Given the description of an element on the screen output the (x, y) to click on. 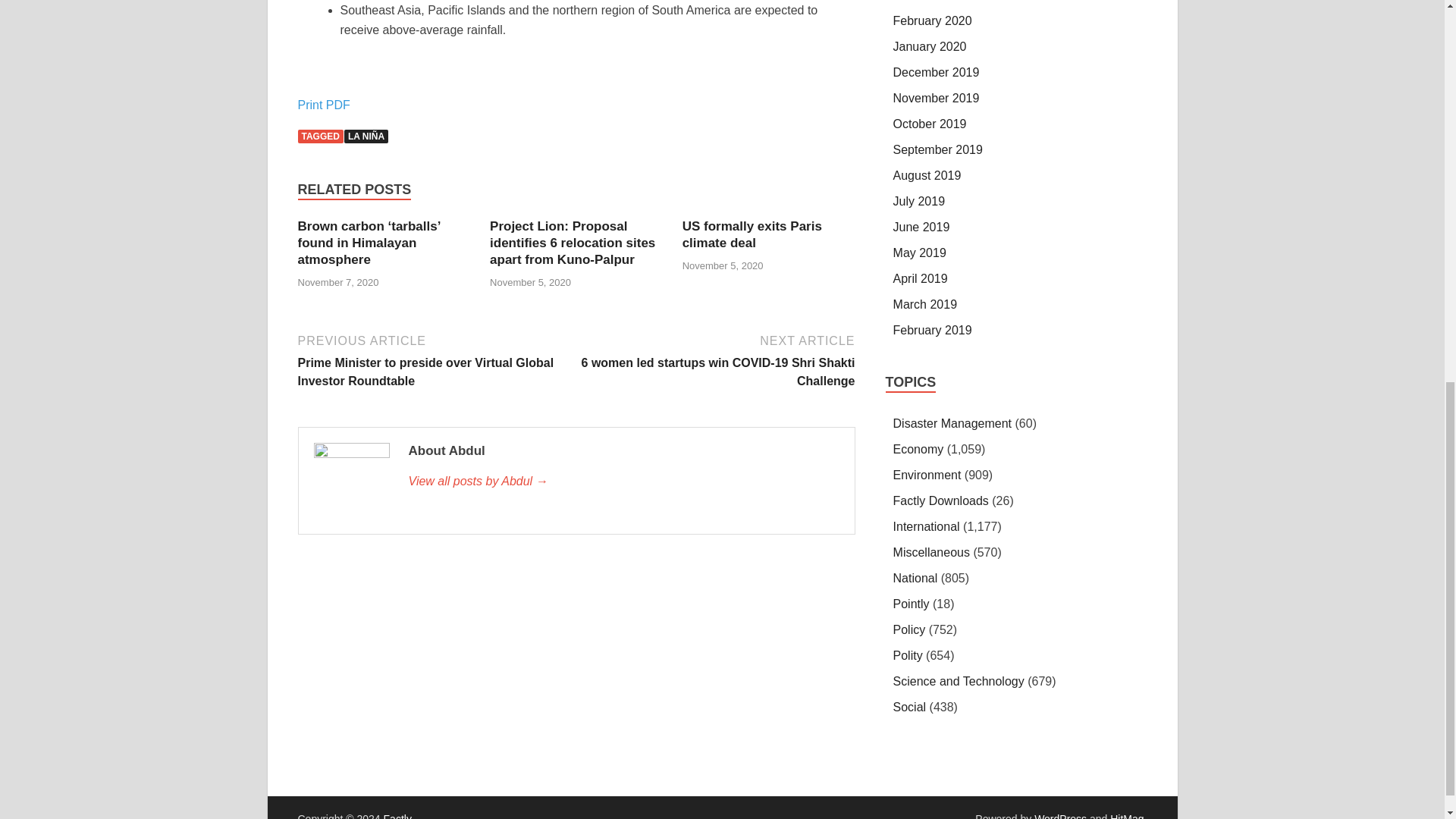
Print PDF (323, 104)
Abdul (622, 481)
US formally exits Paris climate deal (752, 234)
